Given the description of an element on the screen output the (x, y) to click on. 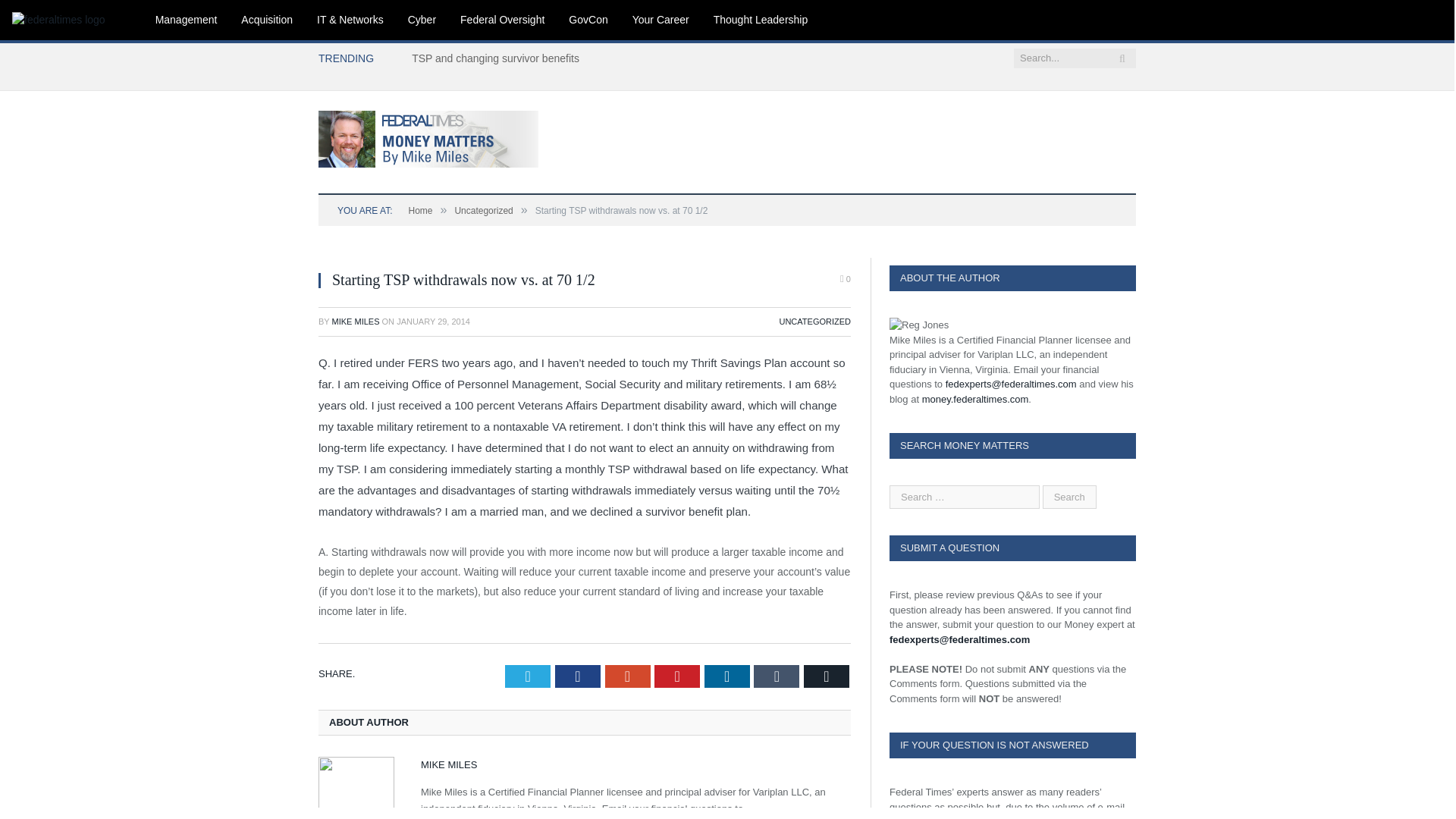
0 (845, 278)
Posts by Mike Miles (355, 320)
LinkedIn (726, 676)
Management (186, 19)
Tweet It (527, 676)
Federal Oversight (502, 19)
Home (419, 210)
Search (1069, 496)
Uncategorized (483, 210)
Share on Facebook (576, 676)
Tumblr (776, 676)
Pinterest (676, 676)
MIKE MILES (355, 320)
Your Career (660, 19)
TSP and changing survivor benefits (499, 58)
